Given the description of an element on the screen output the (x, y) to click on. 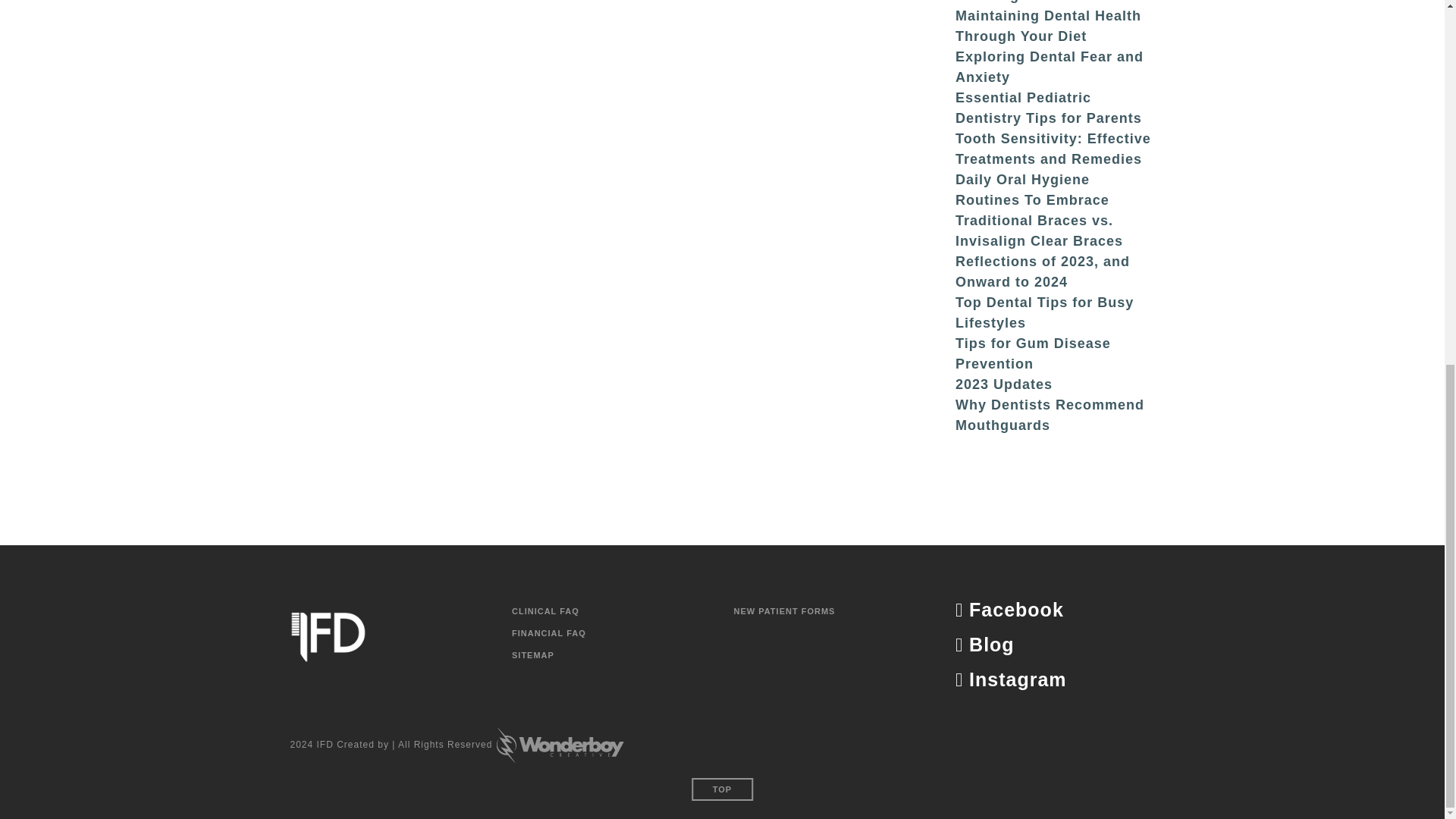
Essential Pediatric Dentistry Tips for Parents (1048, 108)
Maintaining Dental Health Through Your Diet (1048, 26)
Daily Oral Hygiene Routines To Embrace (1032, 189)
Tooth Sensitivity: Effective Treatments and Remedies (1053, 149)
Exploring Dental Fear and Anxiety (1048, 67)
